Given the description of an element on the screen output the (x, y) to click on. 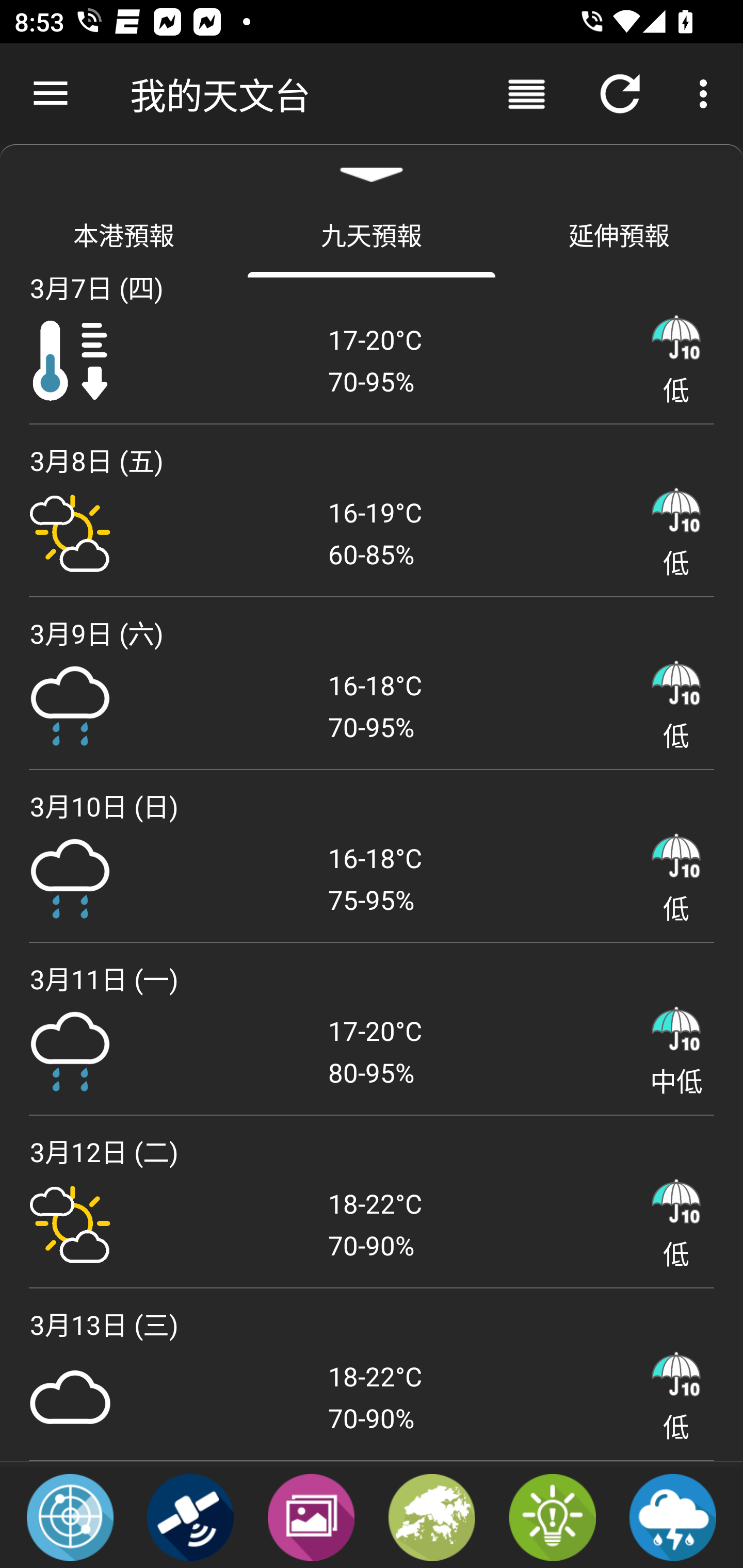
向上瀏覽 (50, 93)
直向佈局 (525, 93)
重新整理 (619, 93)
更多選項 (706, 93)
隱藏 (371, 167)
本港預報 (123, 234)
延伸預報 (619, 234)
雷達圖像 (69, 1516)
衛星圖像 (190, 1516)
天氣照片 (310, 1516)
分區天氣 (431, 1516)
天氣提示 (551, 1516)
定點降雨及閃電預報 (672, 1516)
